Given the description of an element on the screen output the (x, y) to click on. 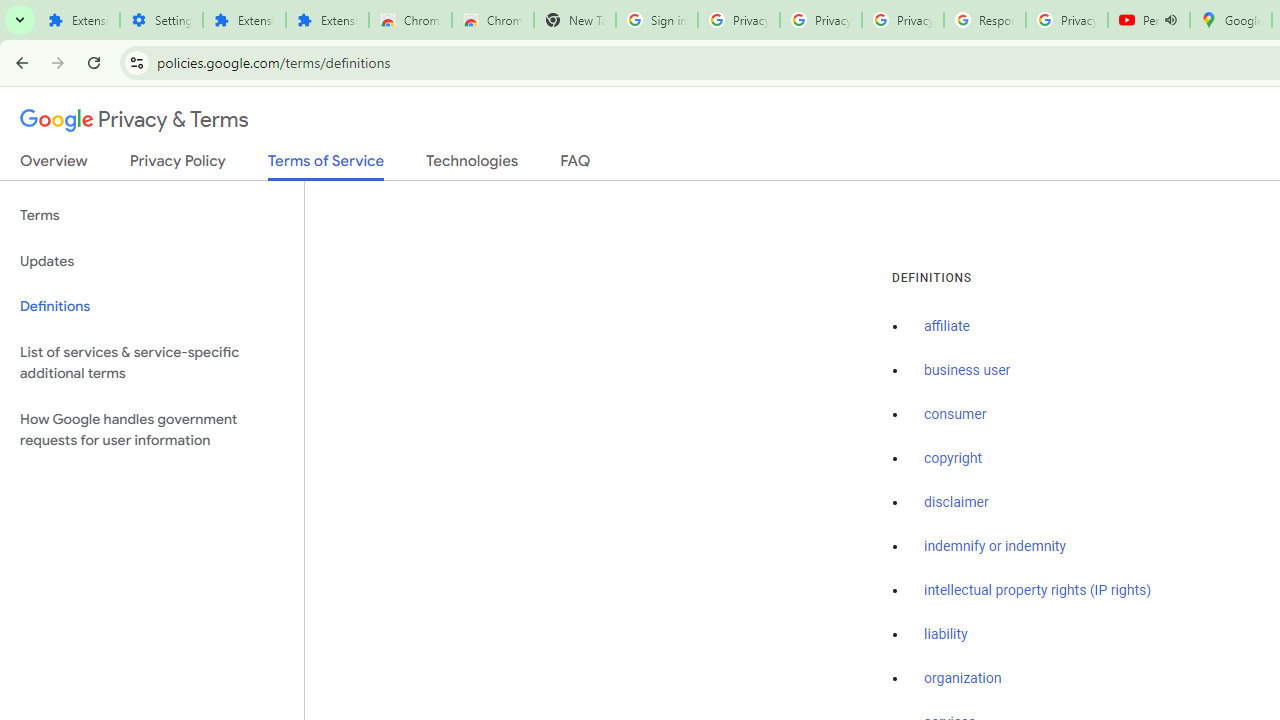
Extensions (326, 20)
Settings (161, 20)
Chrome Web Store (409, 20)
List of services & service-specific additional terms (152, 362)
New Tab (574, 20)
copyright (952, 459)
